Given the description of an element on the screen output the (x, y) to click on. 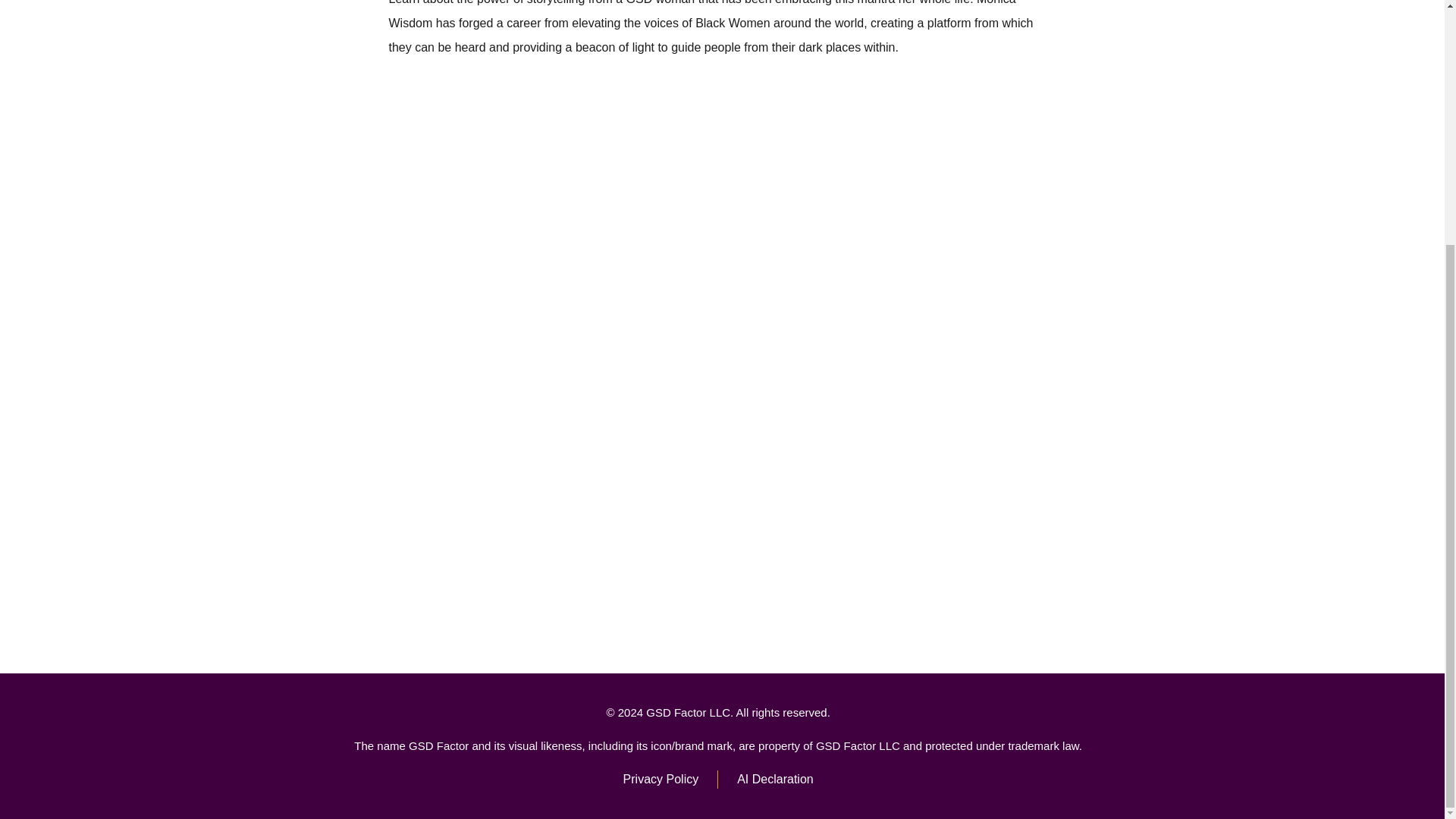
Best of 2022 GSD Factor Podcast (721, 527)
